Given the description of an element on the screen output the (x, y) to click on. 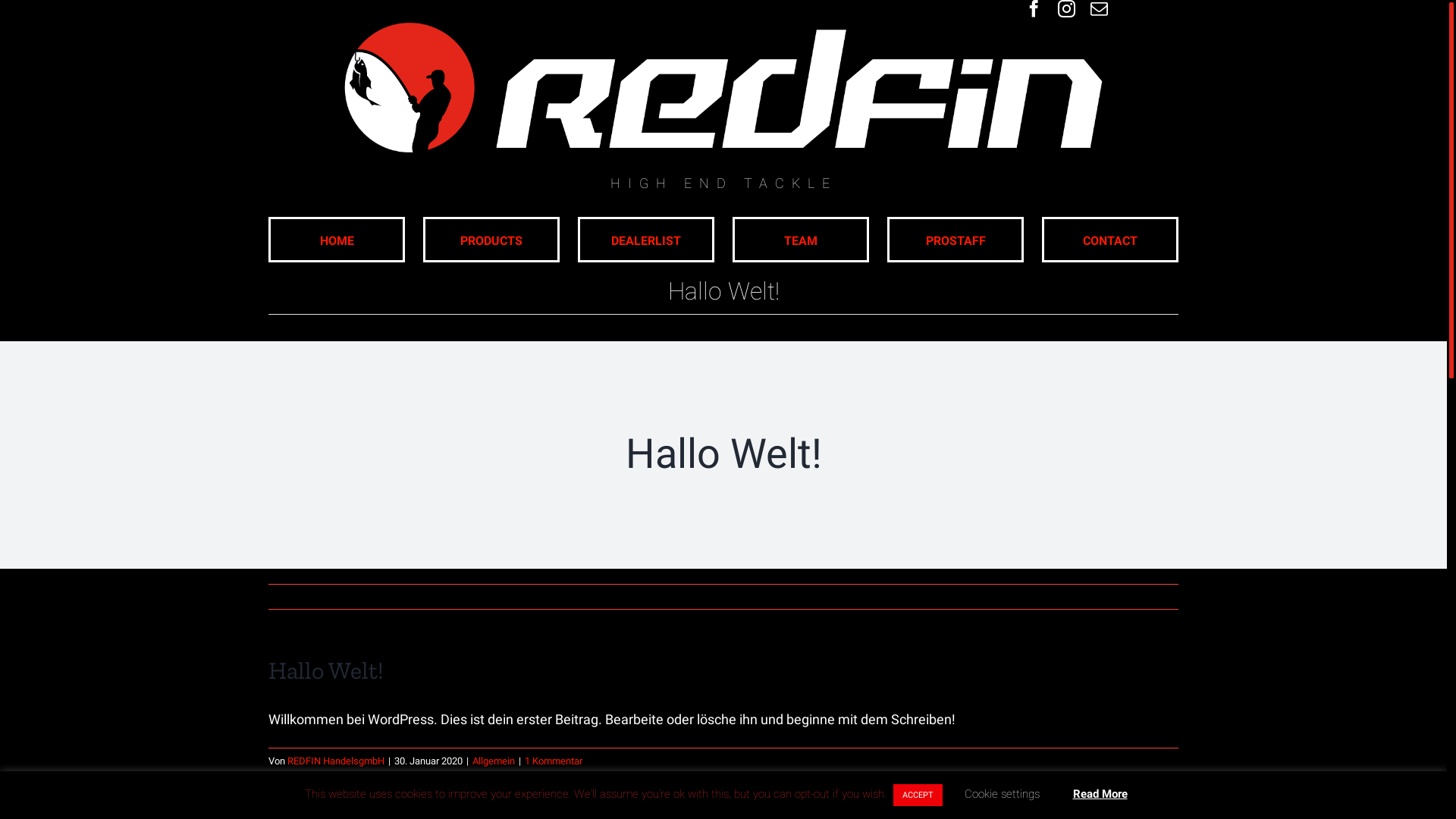
DEALERLIST Element type: text (646, 239)
CONTACT Element type: text (1110, 239)
REDFIN HandelsgmbH Element type: text (335, 760)
Allgemein Element type: text (493, 760)
PROSTAFF Element type: text (955, 239)
Read More Element type: text (1099, 794)
PRODUCTS Element type: text (491, 239)
1 Kommentar Element type: text (553, 760)
TEAM Element type: text (800, 239)
Cookie settings Element type: text (1001, 793)
ACCEPT Element type: text (917, 795)
HOME Element type: text (336, 239)
